Given the description of an element on the screen output the (x, y) to click on. 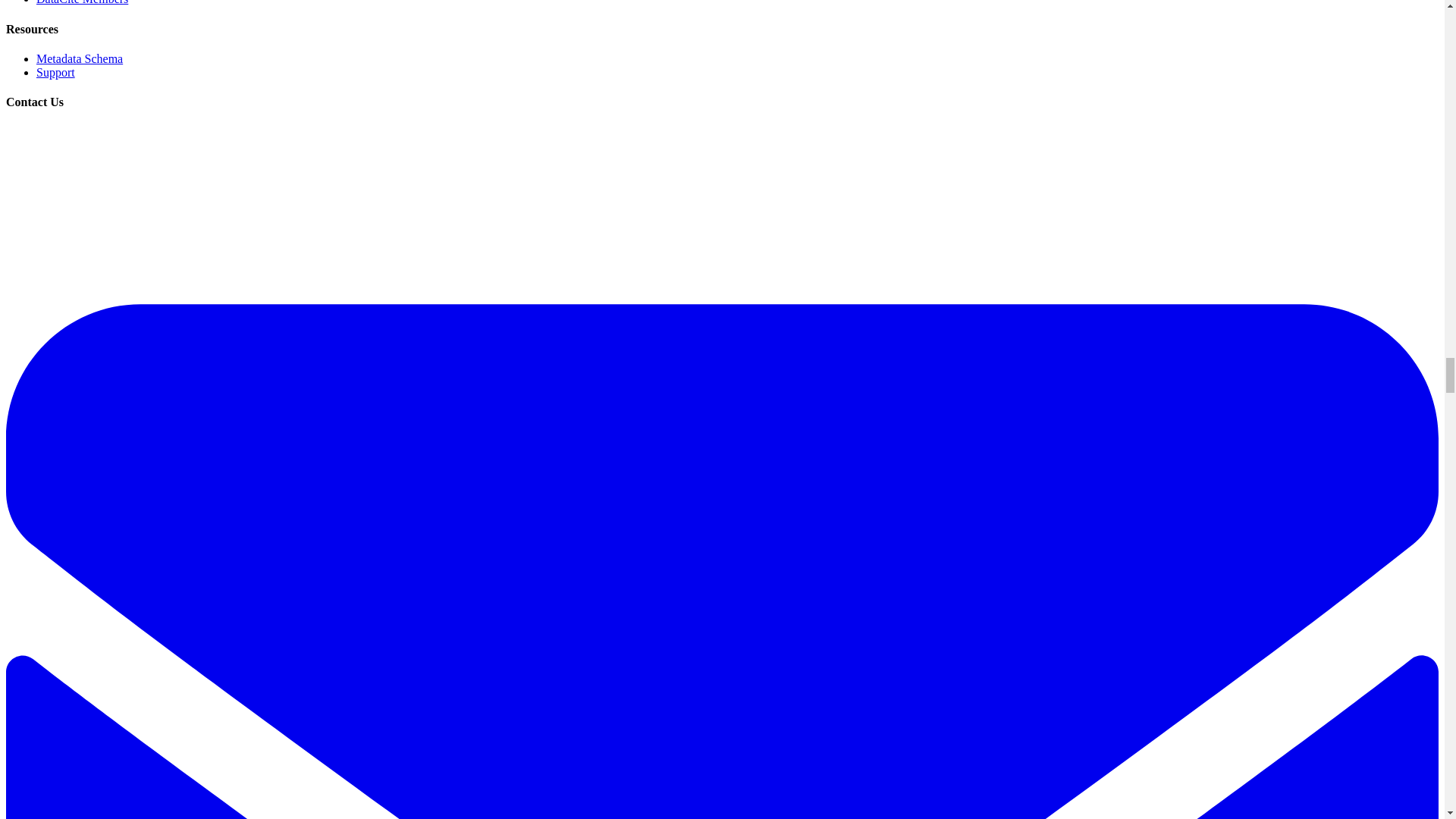
DataCite Members (82, 2)
Metadata Schema (79, 58)
Support (55, 72)
